Given the description of an element on the screen output the (x, y) to click on. 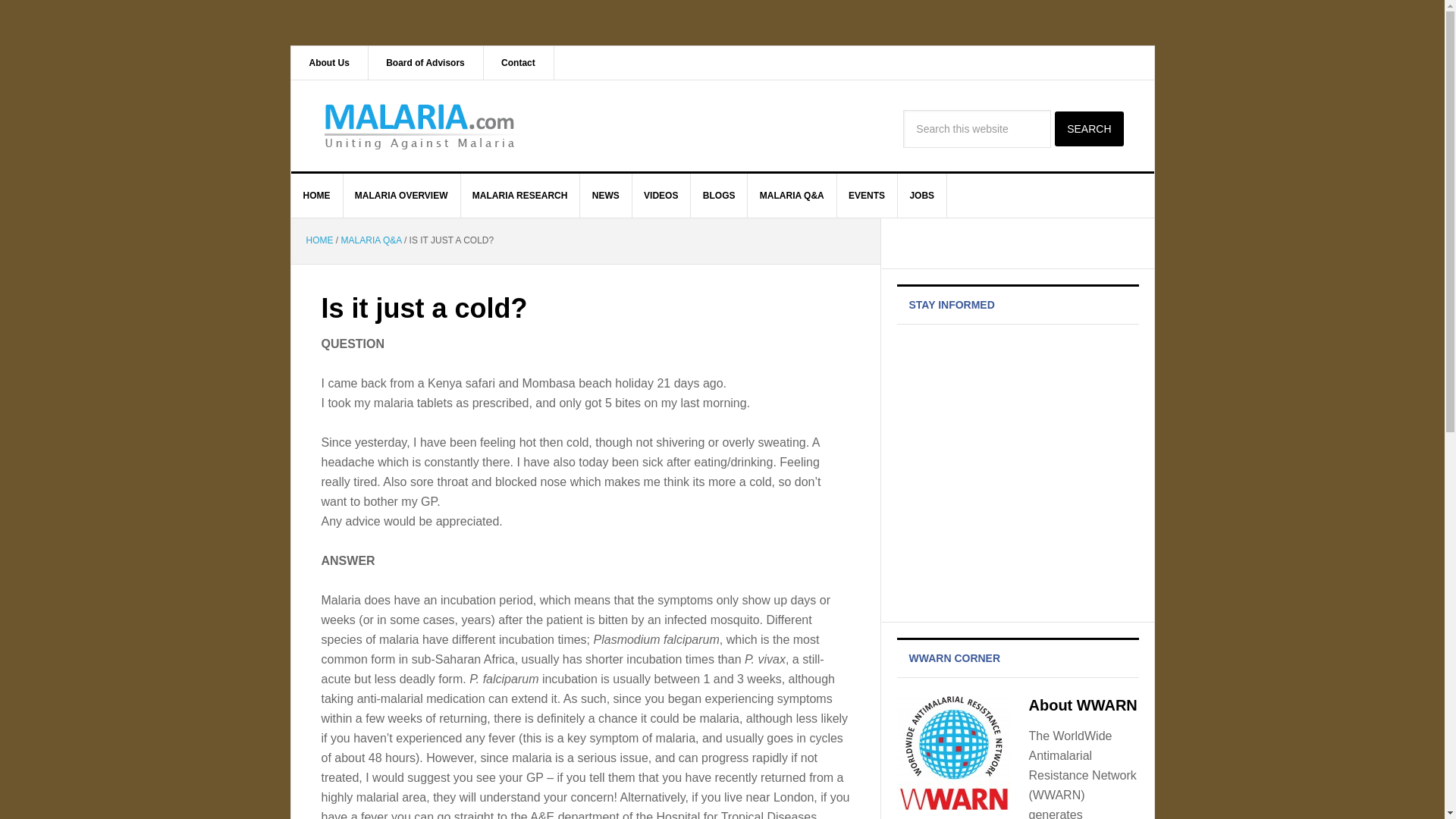
HOME (317, 195)
Search (1088, 128)
Search (1088, 128)
MALARIA RESEARCH (520, 195)
MALARIA OVERVIEW (401, 195)
JOBS (921, 195)
BLOGS (719, 195)
VIDEOS (660, 195)
Contact (518, 62)
Search (1088, 128)
NEWS (605, 195)
About Us (329, 62)
About WWARN (1082, 704)
Board of Advisors (425, 62)
EVENTS (866, 195)
